Given the description of an element on the screen output the (x, y) to click on. 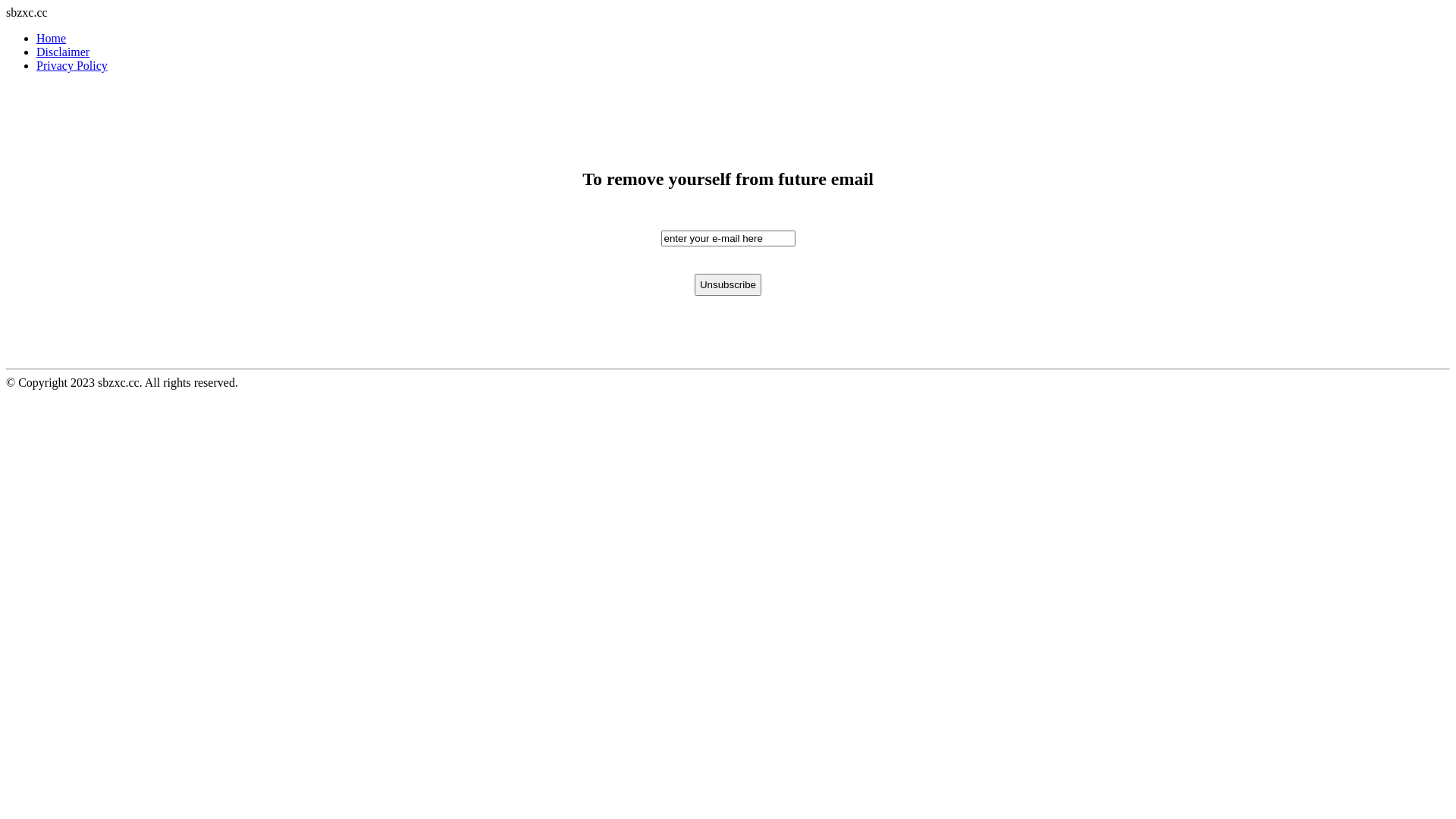
Home Element type: text (50, 37)
Privacy Policy Element type: text (71, 65)
Unsubscribe Element type: text (727, 284)
Disclaimer Element type: text (62, 51)
enter your e-mail here Element type: text (728, 238)
